Given the description of an element on the screen output the (x, y) to click on. 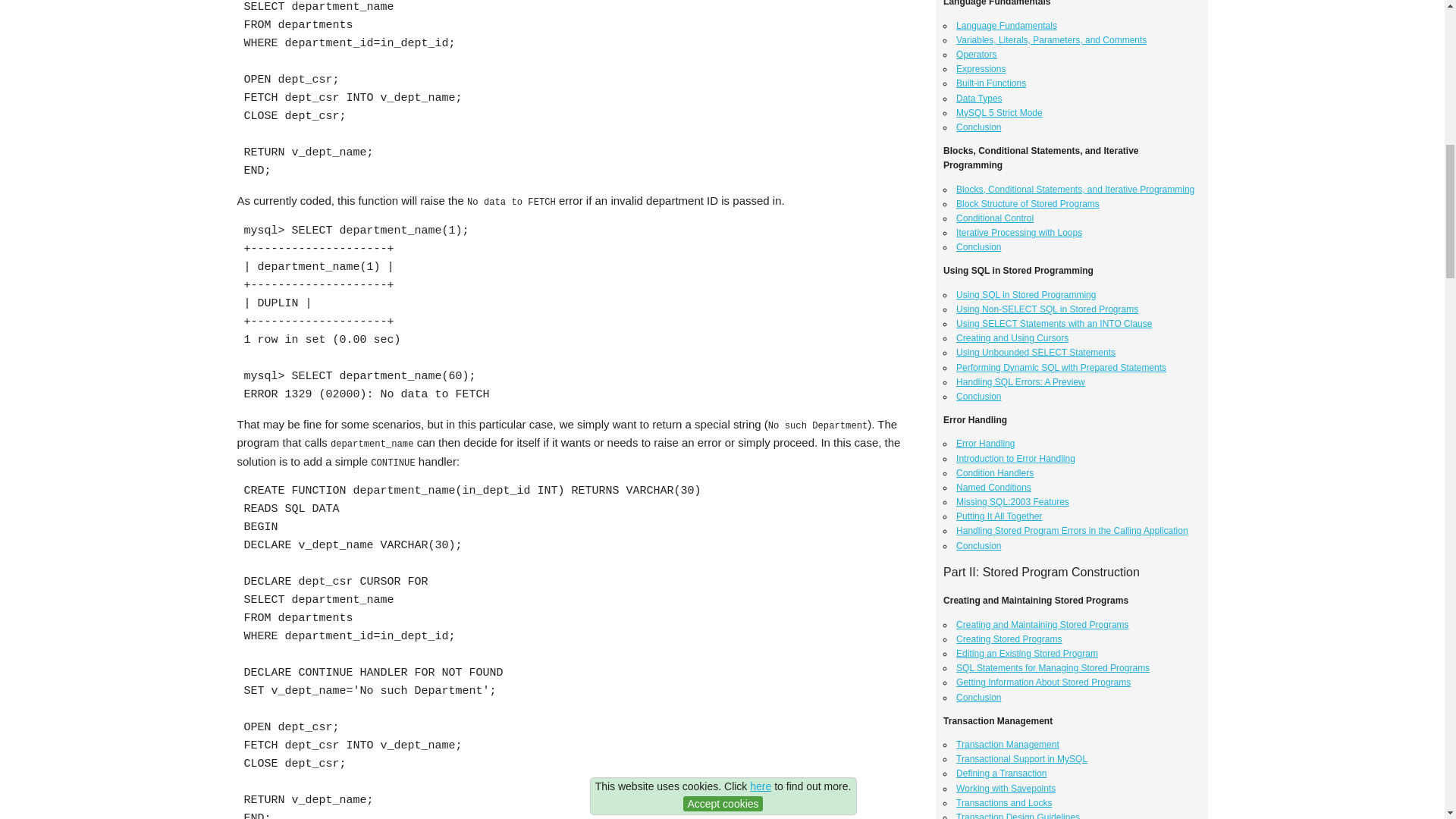
Iterative Processing with Loops (1018, 232)
Block Structure of Stored Programs (1027, 204)
MySQL 5 Strict Mode (999, 112)
Operators (975, 54)
Built-in Functions (991, 82)
Expressions (981, 68)
Conclusion (978, 246)
Conditional Control (994, 217)
Conclusion (978, 127)
Blocks, Conditional Statements, and Iterative Programming (1074, 189)
